Given the description of an element on the screen output the (x, y) to click on. 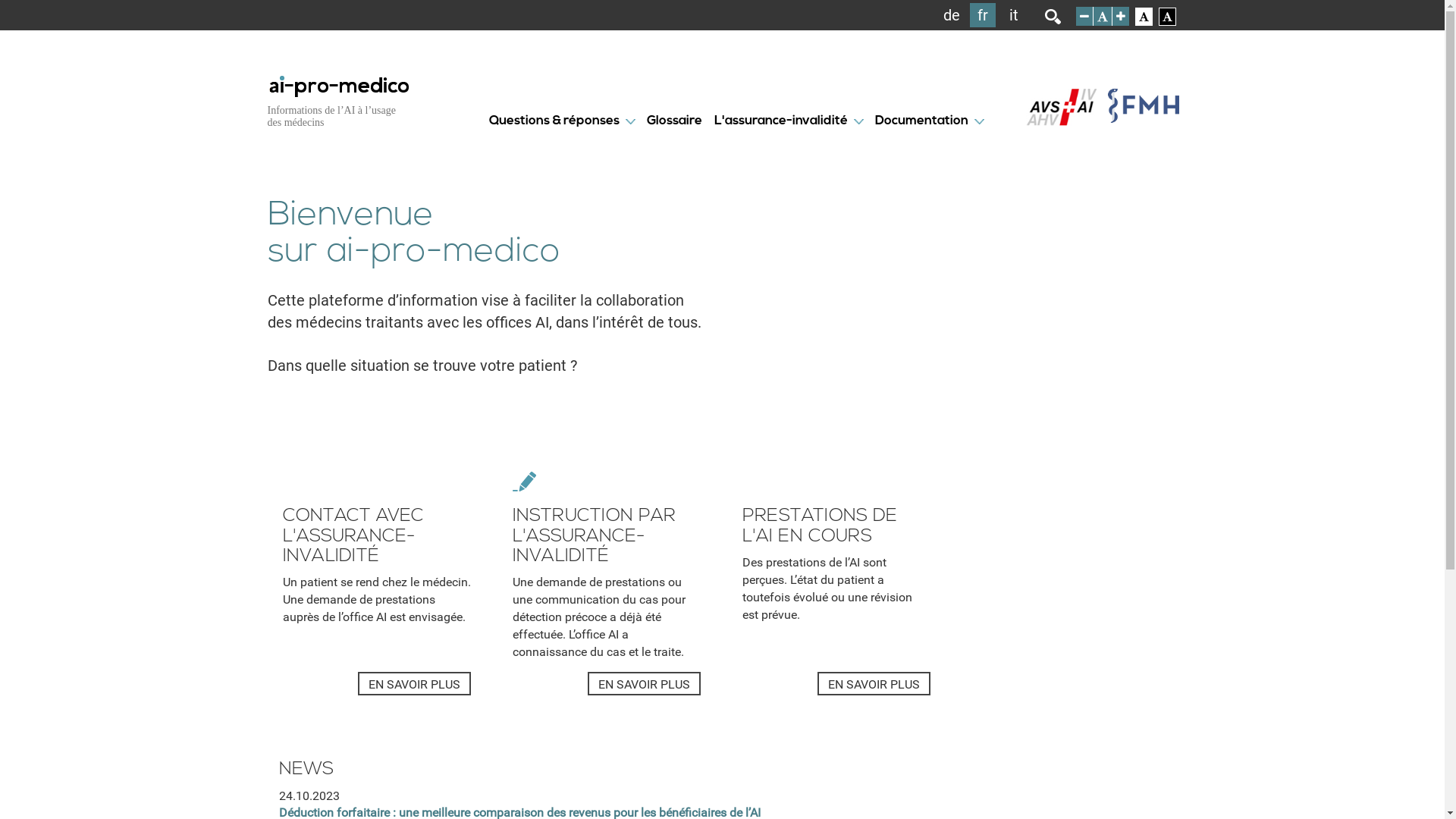
EN SAVOIR PLUS Element type: text (643, 684)
EN SAVOIR PLUS Element type: text (873, 684)
Documentation Element type: text (921, 120)
EN SAVOIR PLUS Element type: text (414, 684)
Glossaire Element type: text (673, 120)
it Element type: text (1013, 15)
de Element type: text (951, 15)
fr Element type: text (982, 15)
